Given the description of an element on the screen output the (x, y) to click on. 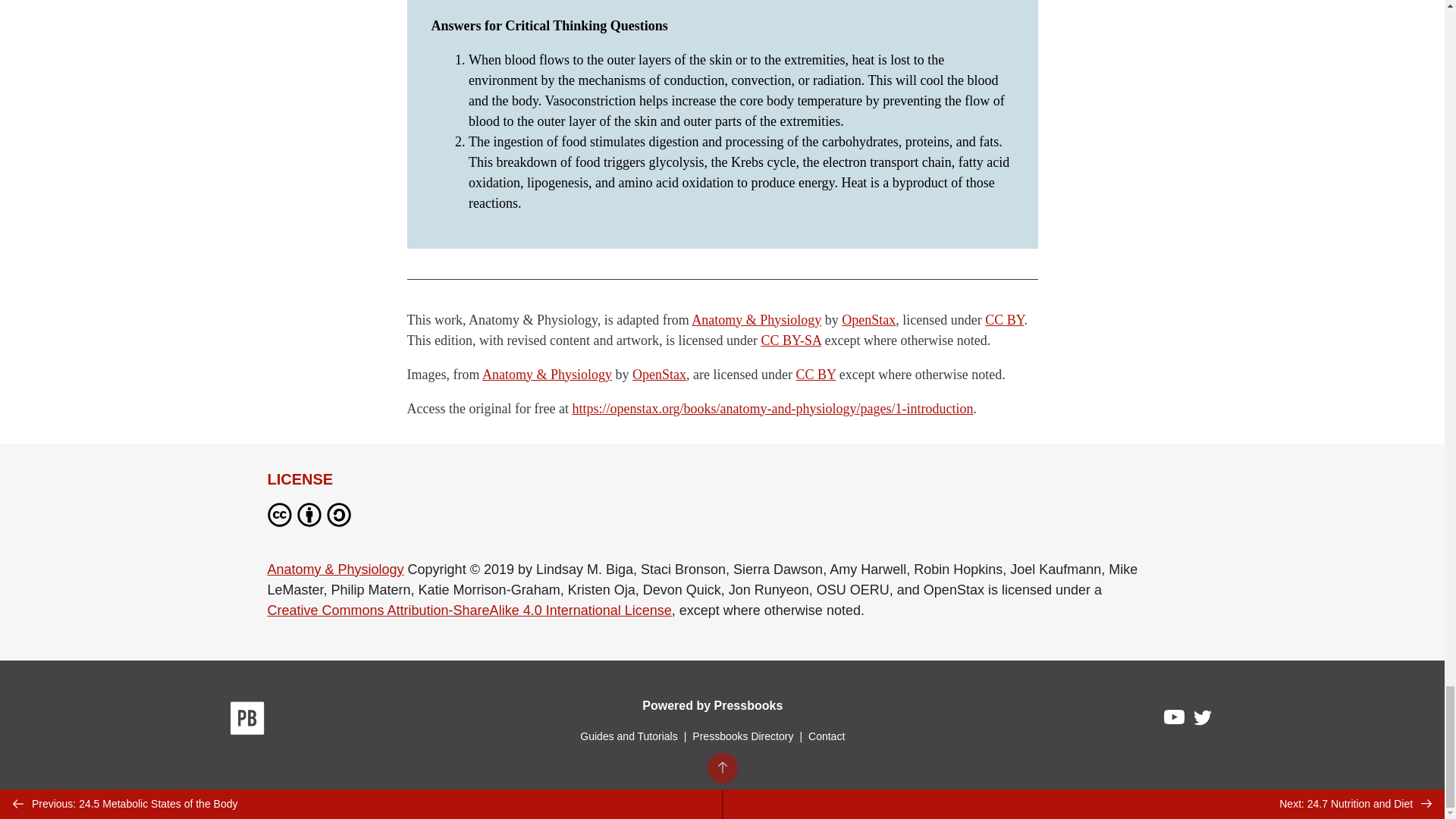
CC BY-SA (790, 340)
Contact (826, 736)
OpenStax (658, 374)
Pressbooks Directory (742, 736)
Powered by Pressbooks (712, 705)
OpenStax (868, 319)
CC BY (814, 374)
Guides and Tutorials (627, 736)
CC BY (1004, 319)
Pressbooks on YouTube (1174, 721)
